Given the description of an element on the screen output the (x, y) to click on. 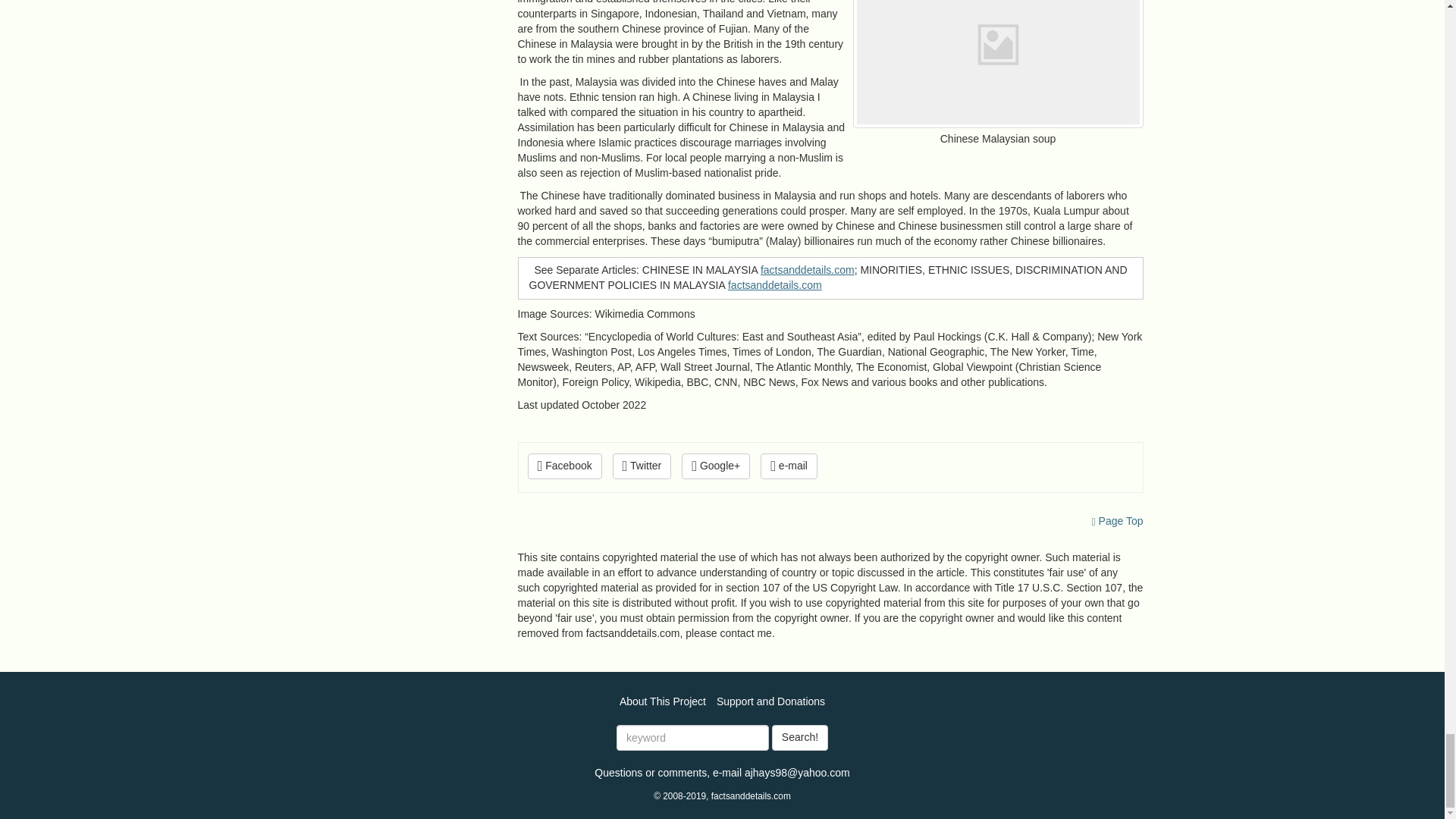
Search! (799, 737)
e-mail a link to this page (788, 466)
factsanddetails.com (807, 269)
